Given the description of an element on the screen output the (x, y) to click on. 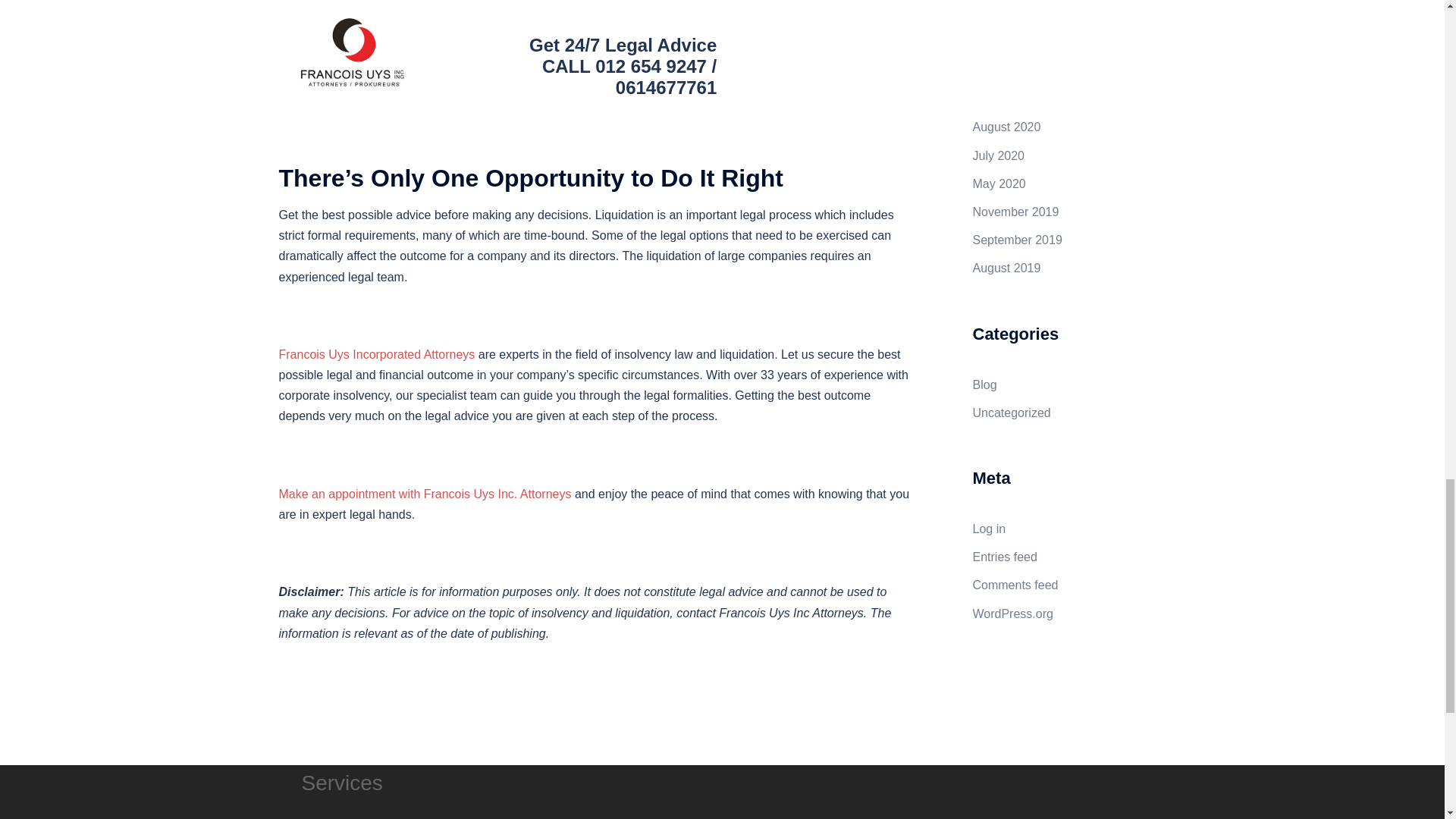
Voluntary Liquidation (597, 63)
Francois Uys Incorporated Attorneys (377, 354)
Make an appointment with Francois Uys Inc. Attorneys (425, 493)
